Given the description of an element on the screen output the (x, y) to click on. 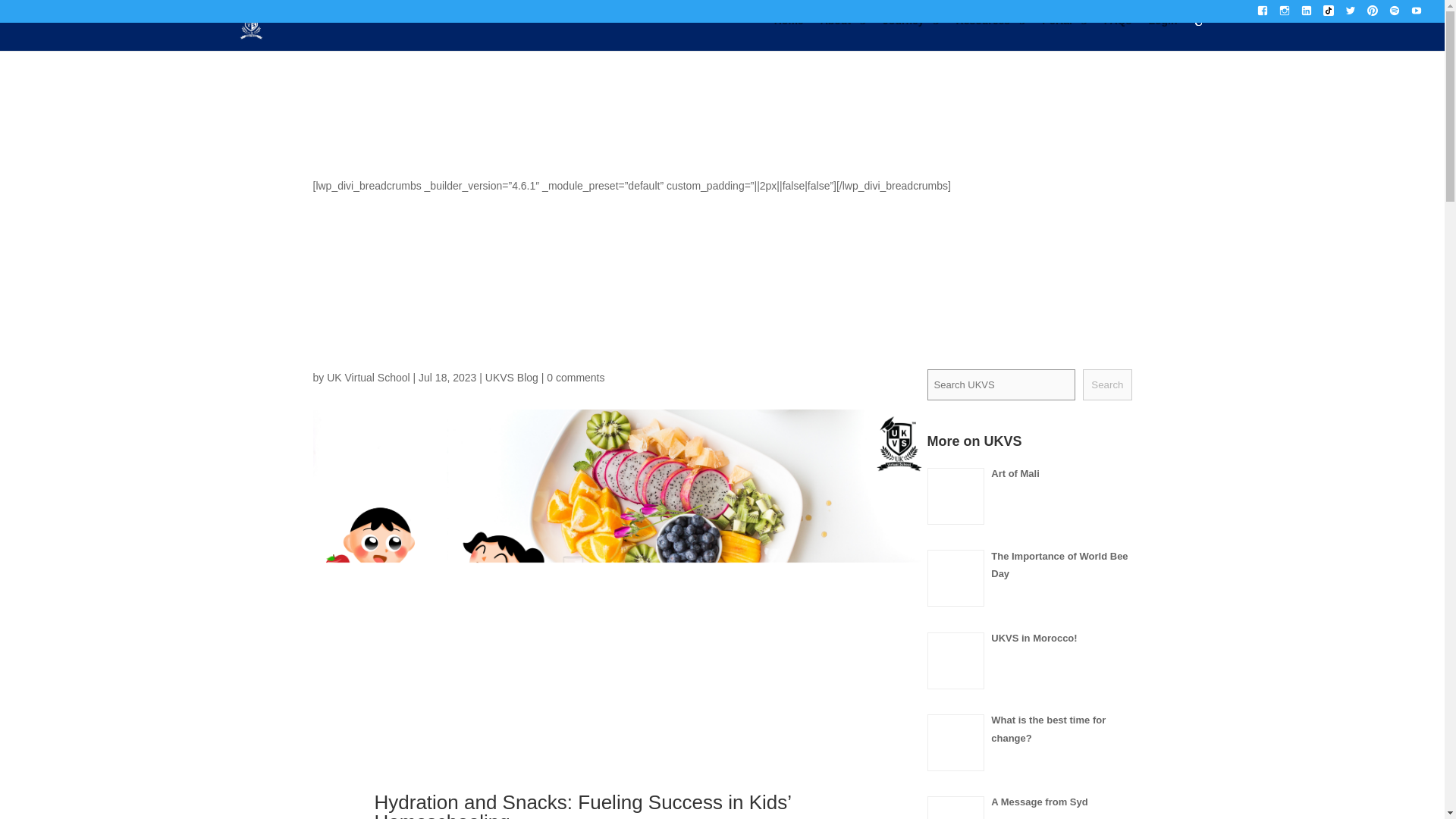
Journey (910, 32)
Portal (1064, 32)
Posts by UK Virtual School (367, 377)
About (843, 32)
Resources (991, 32)
